Given the description of an element on the screen output the (x, y) to click on. 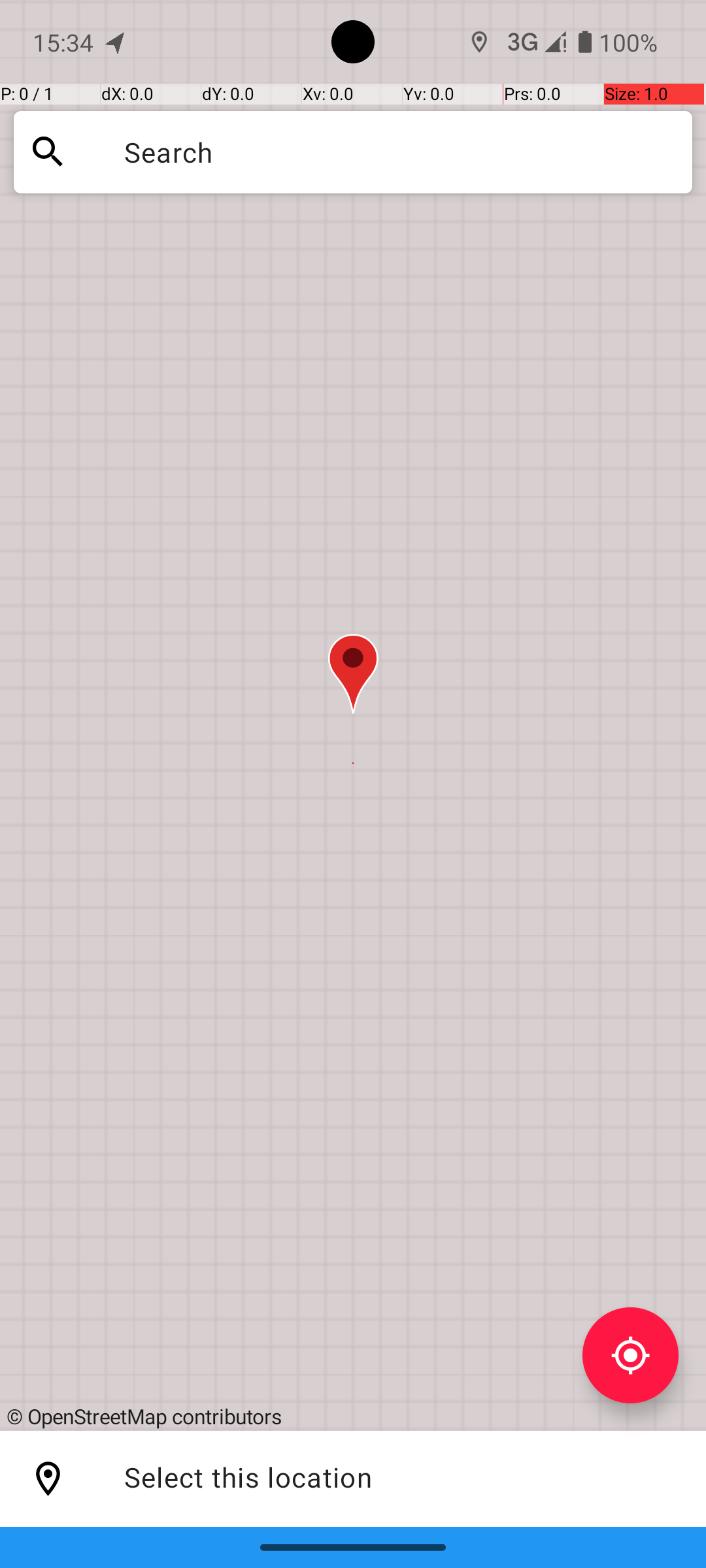
Select this location Element type: android.widget.ImageView (47, 1478)
